Given the description of an element on the screen output the (x, y) to click on. 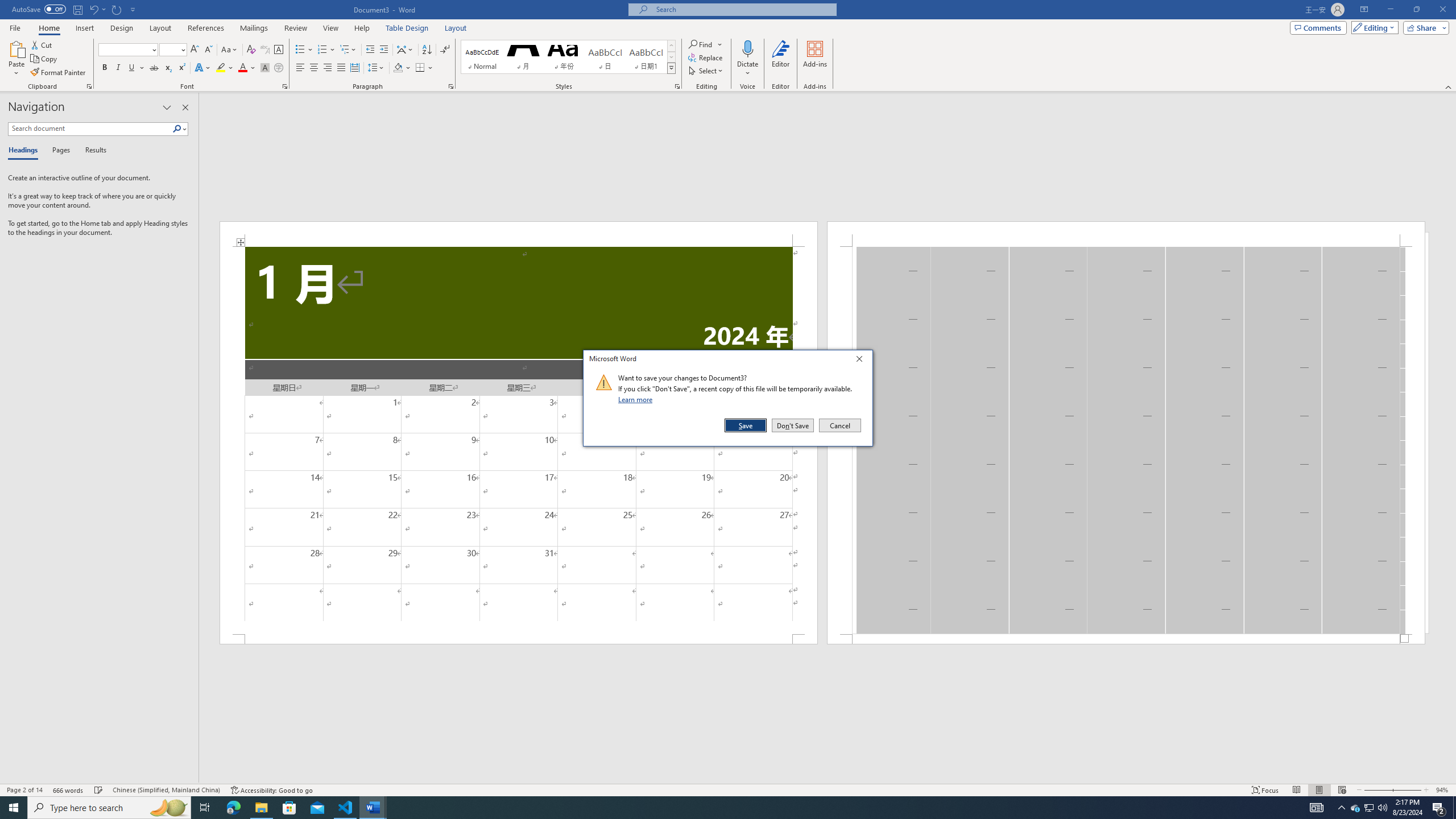
Multilevel List (347, 49)
Office Clipboard... (88, 85)
Change Case (1355, 807)
Spelling and Grammar Check Checking (229, 49)
Styles... (98, 790)
Font Color RGB(255, 0, 0) (676, 85)
Show/Hide Editing Marks (241, 67)
Text Effects and Typography (444, 49)
